Given the description of an element on the screen output the (x, y) to click on. 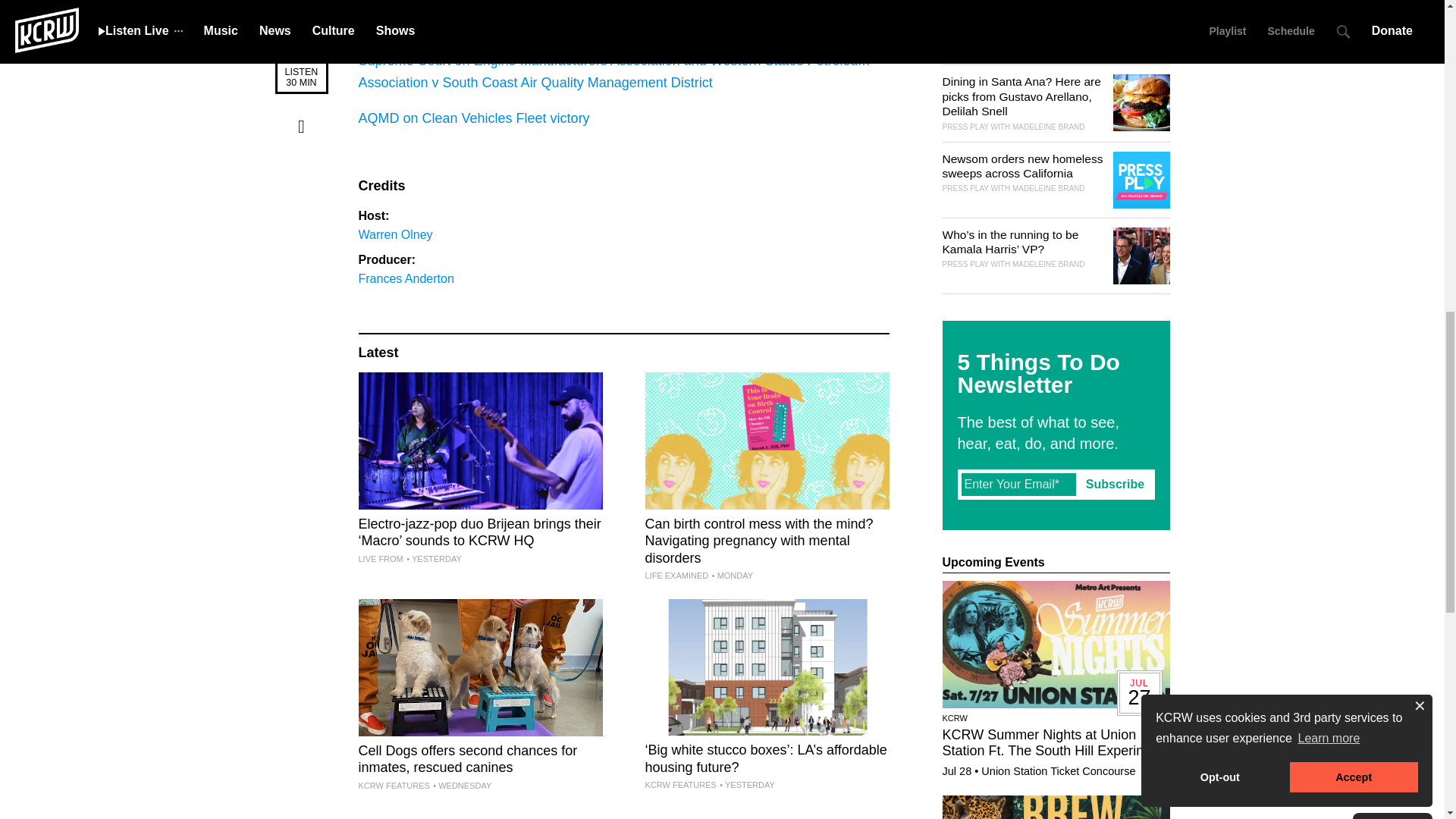
Thursday, July 25th 2024, 10:00 pm (433, 558)
Hahn's re-election campaign (444, 25)
Frances Anderton (405, 278)
Warren Olney (395, 234)
Thursday, July 25th 2024, 3:00 pm (746, 784)
Monday, July 22nd 2024, 12:00 am (731, 574)
Subscribe (1114, 484)
AQMD on Clean Vehicles Fleet victory (473, 118)
Wednesday, July 24th 2024, 3:00 pm (462, 785)
